Given the description of an element on the screen output the (x, y) to click on. 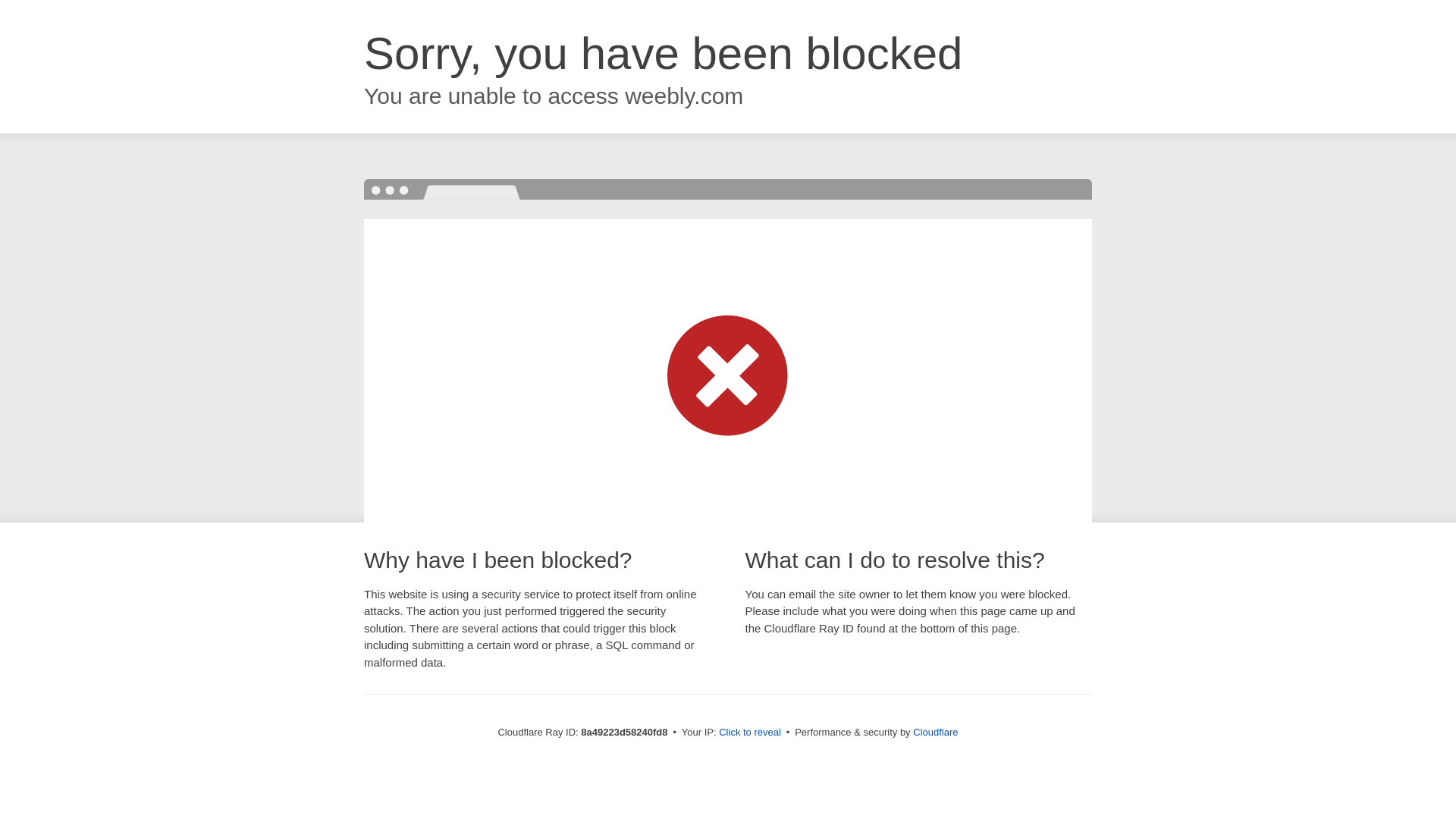
Click to reveal (749, 732)
Cloudflare (935, 731)
